Given the description of an element on the screen output the (x, y) to click on. 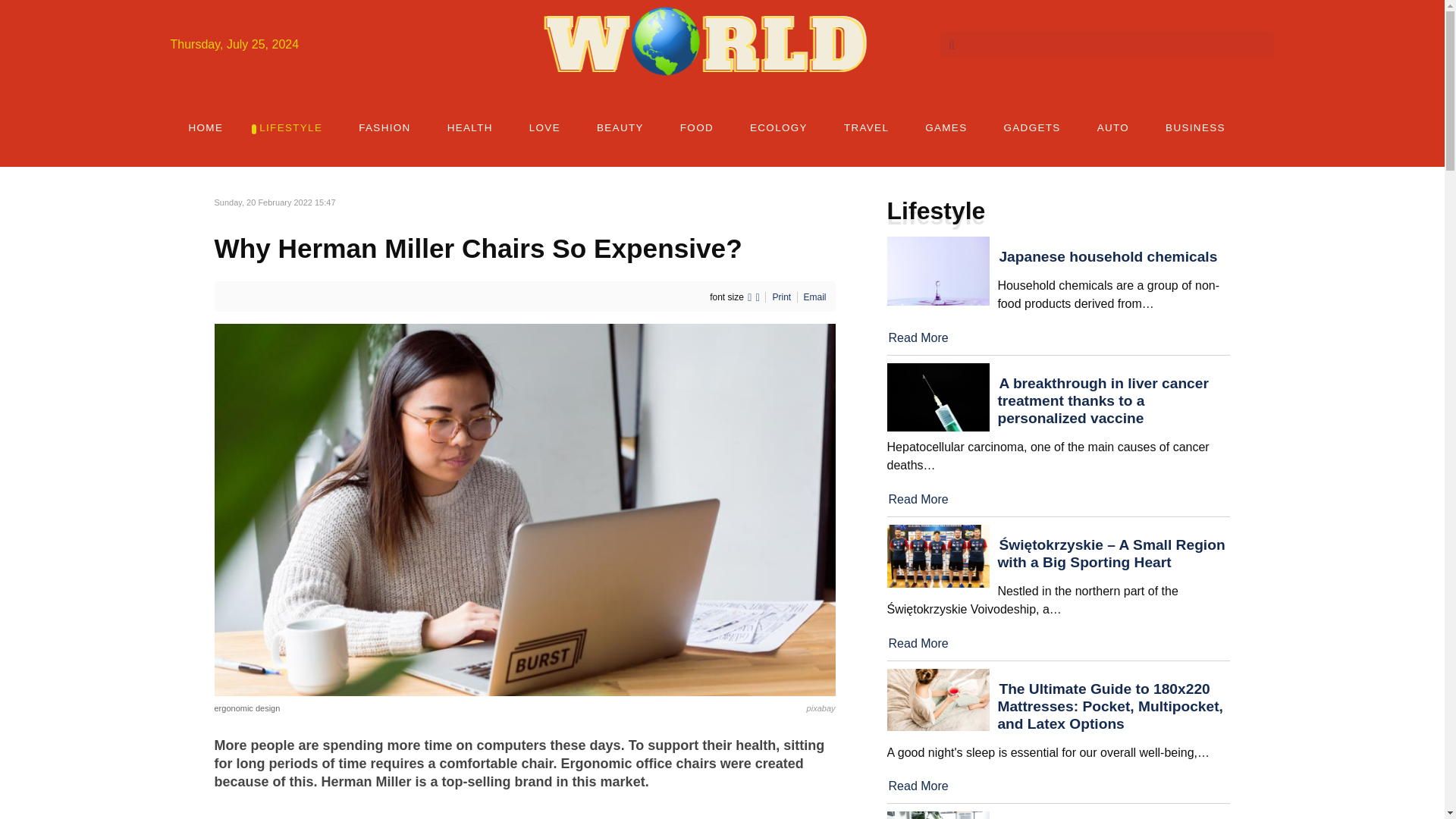
Read More (918, 643)
BUSINESS (1195, 127)
LIFESTYLE (290, 127)
GAMES (946, 127)
ECOLOGY (778, 127)
Read More (918, 337)
HOME (205, 127)
TRAVEL (866, 127)
GADGETS (1031, 127)
LOVE (544, 127)
Love - tips for lovers. How to live in a relationship (544, 127)
BEAUTY (620, 127)
HEALTH (470, 127)
